Given the description of an element on the screen output the (x, y) to click on. 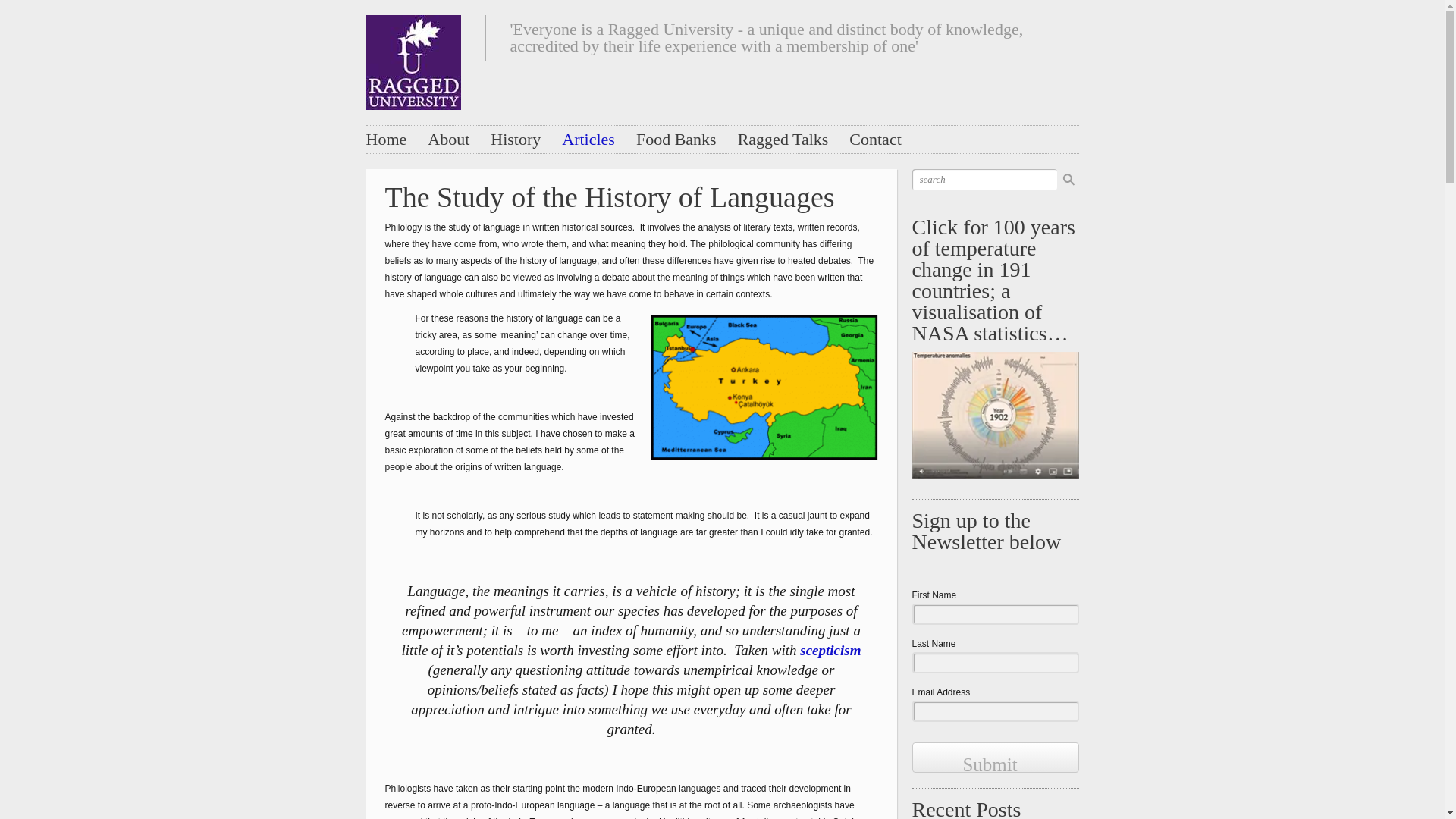
Food Banks (676, 139)
Ragged University (412, 57)
Home (385, 139)
Articles (588, 139)
History (515, 139)
Ragged Talks (783, 139)
About (448, 139)
